Given the description of an element on the screen output the (x, y) to click on. 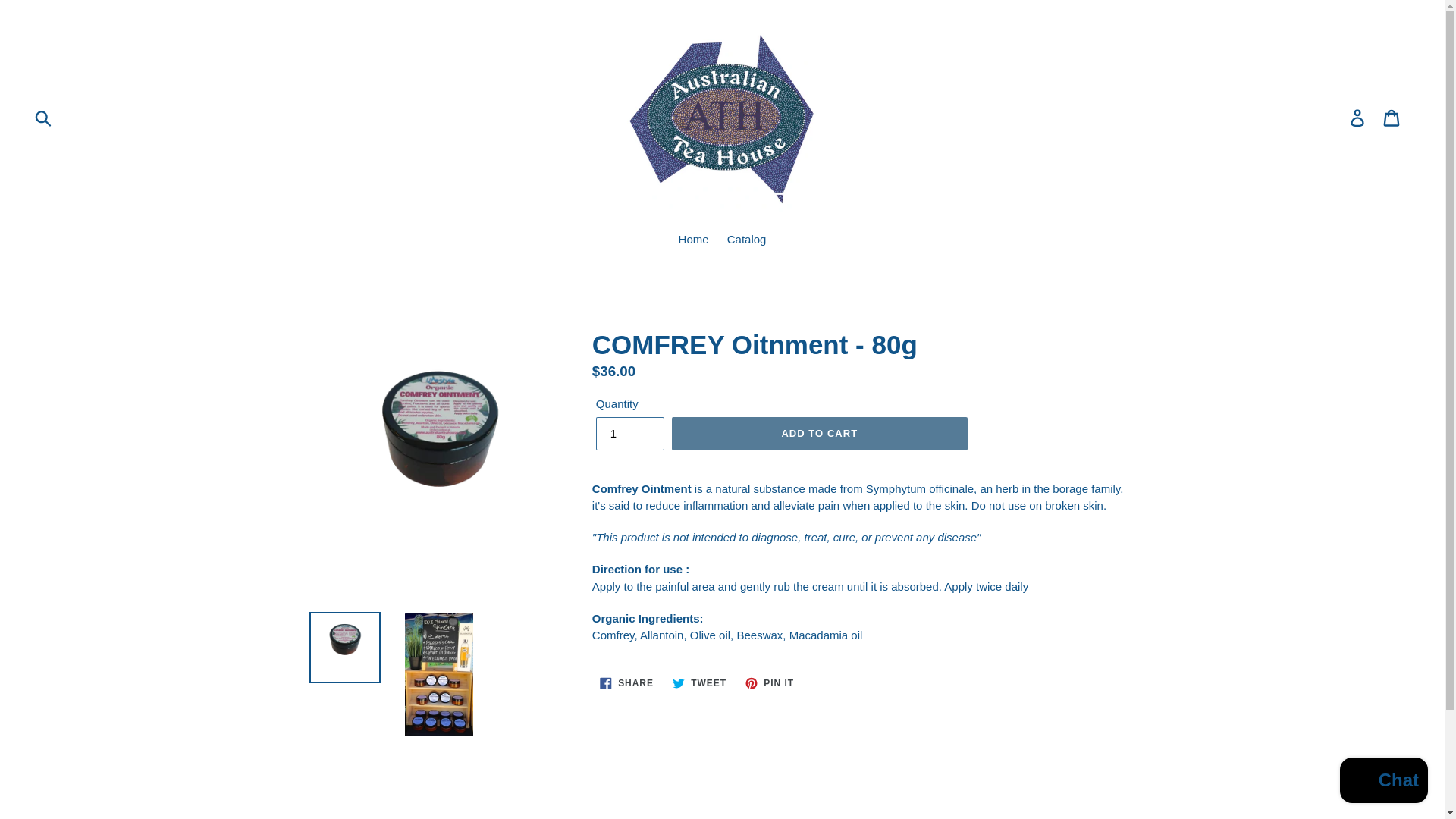
Shopify online store chat (1383, 781)
1 (629, 433)
Submit (44, 117)
Home (693, 240)
ADD TO CART (819, 433)
Cart (1392, 117)
Catalog (699, 682)
Log in (746, 240)
